Given the description of an element on the screen output the (x, y) to click on. 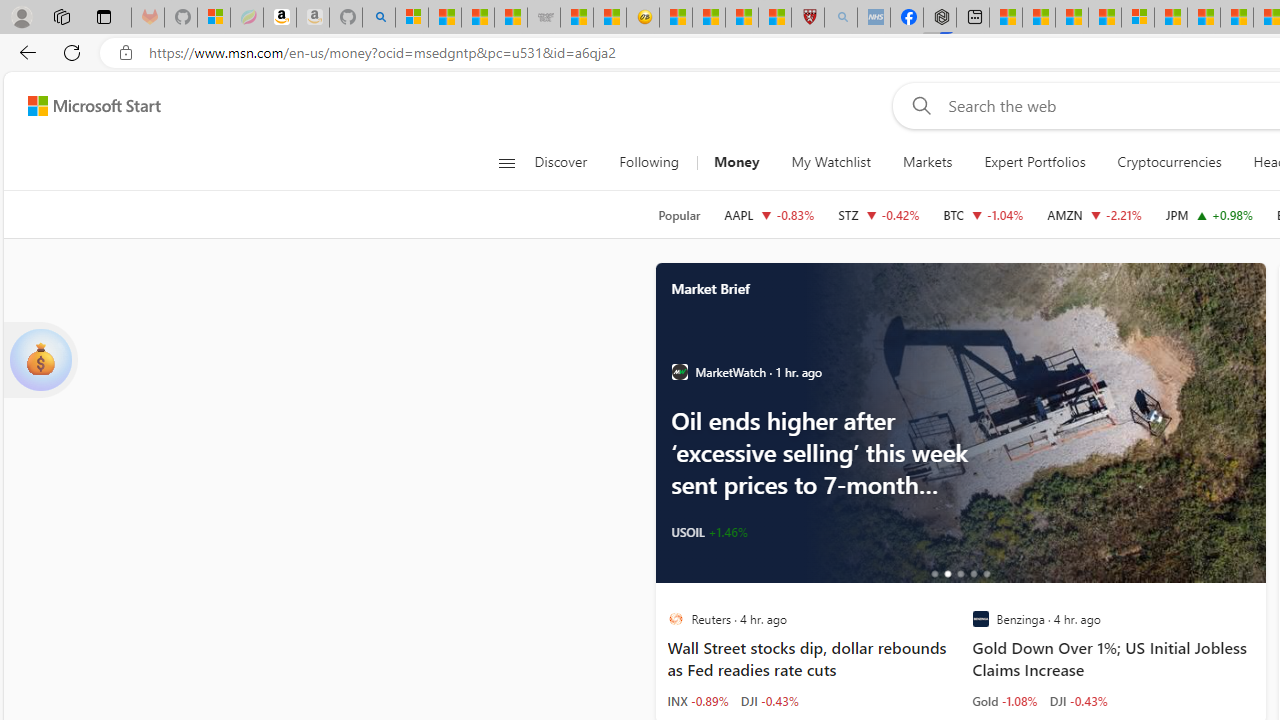
Money (736, 162)
Skip to footer (82, 105)
Robert H. Shmerling, MD - Harvard Health (808, 17)
Expert Portfolios (1034, 162)
Cryptocurrencies (1168, 162)
